Given the description of an element on the screen output the (x, y) to click on. 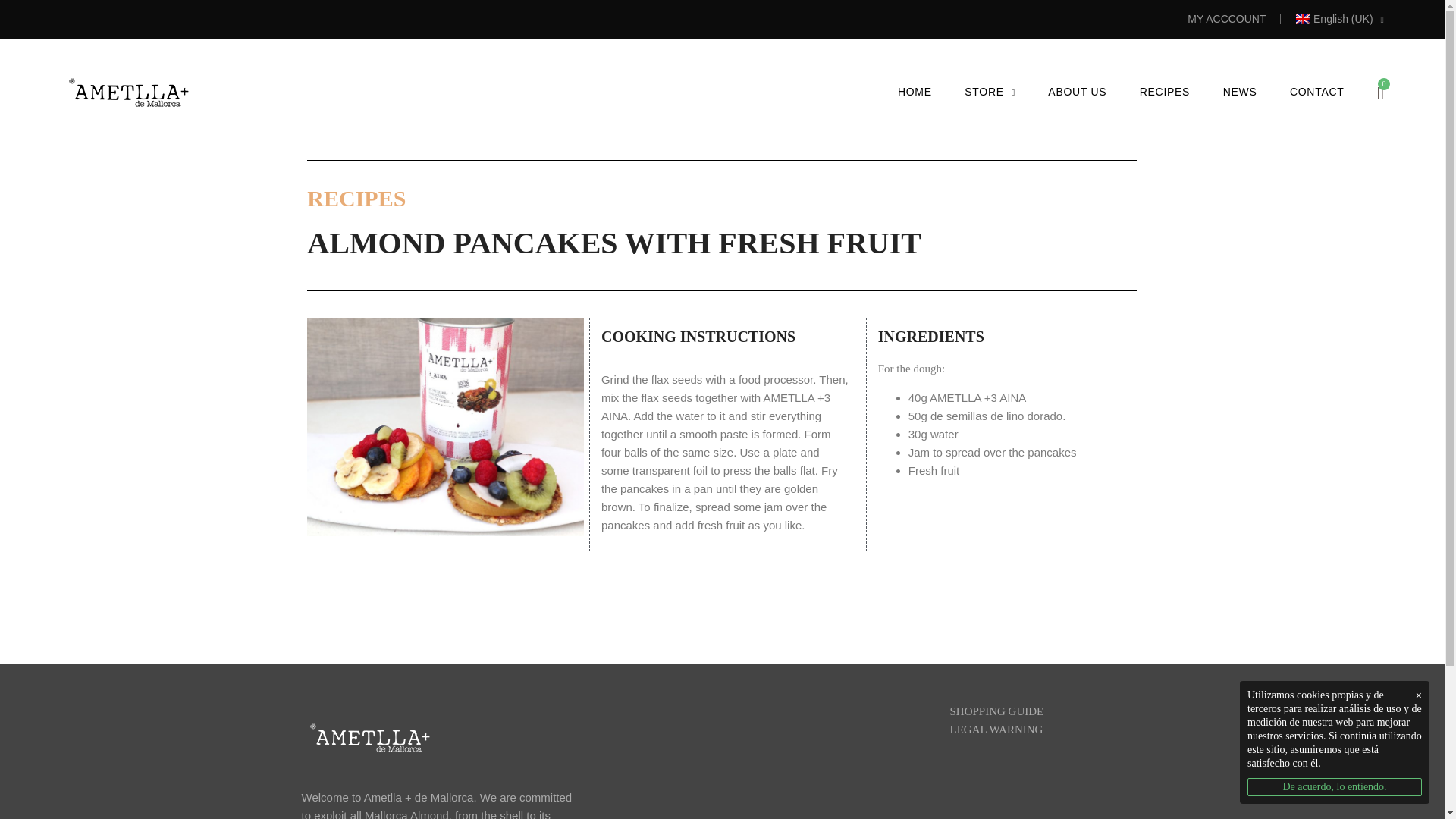
MY ACCCOUNT (1226, 19)
De acuerdo, lo entiendo. (1334, 787)
LEGAL WARNING (995, 729)
SHOPPING GUIDE (996, 711)
